Given the description of an element on the screen output the (x, y) to click on. 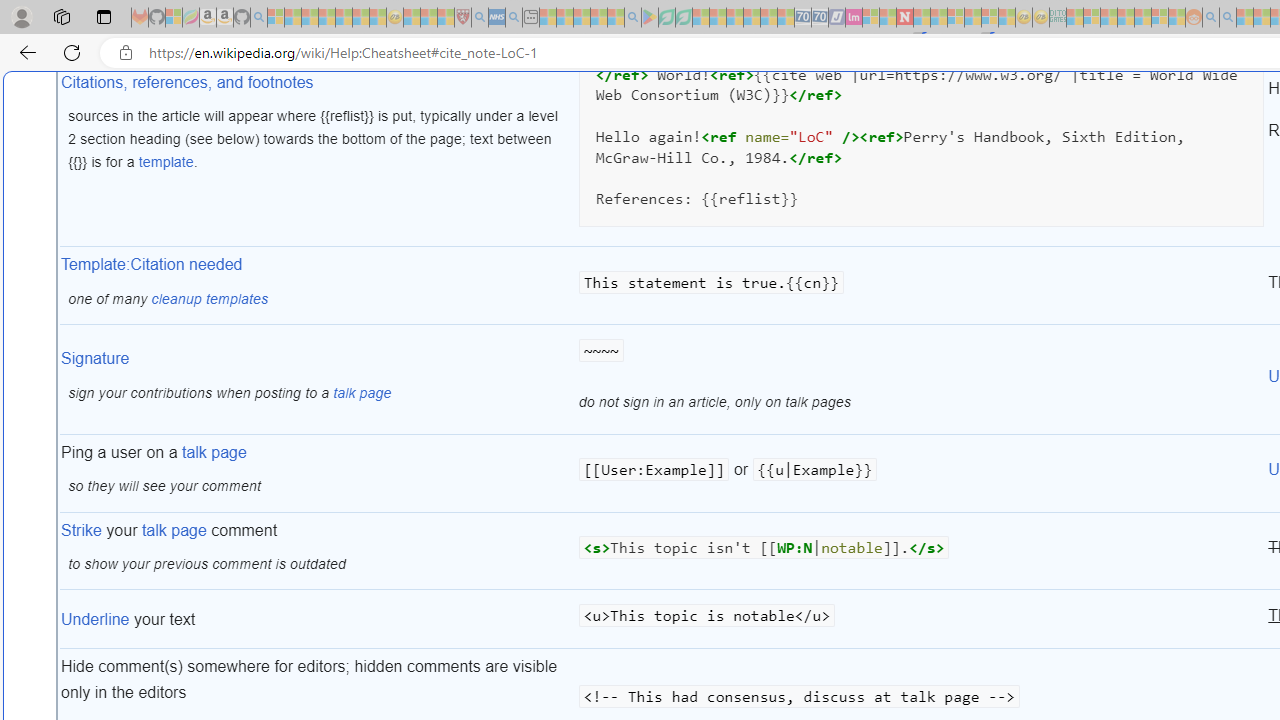
talk page (173, 530)
<s>This topic isn't [[WP:N|notable]].</s> (921, 552)
Ping a user on a talk page so they will see your comment (318, 473)
